Given the description of an element on the screen output the (x, y) to click on. 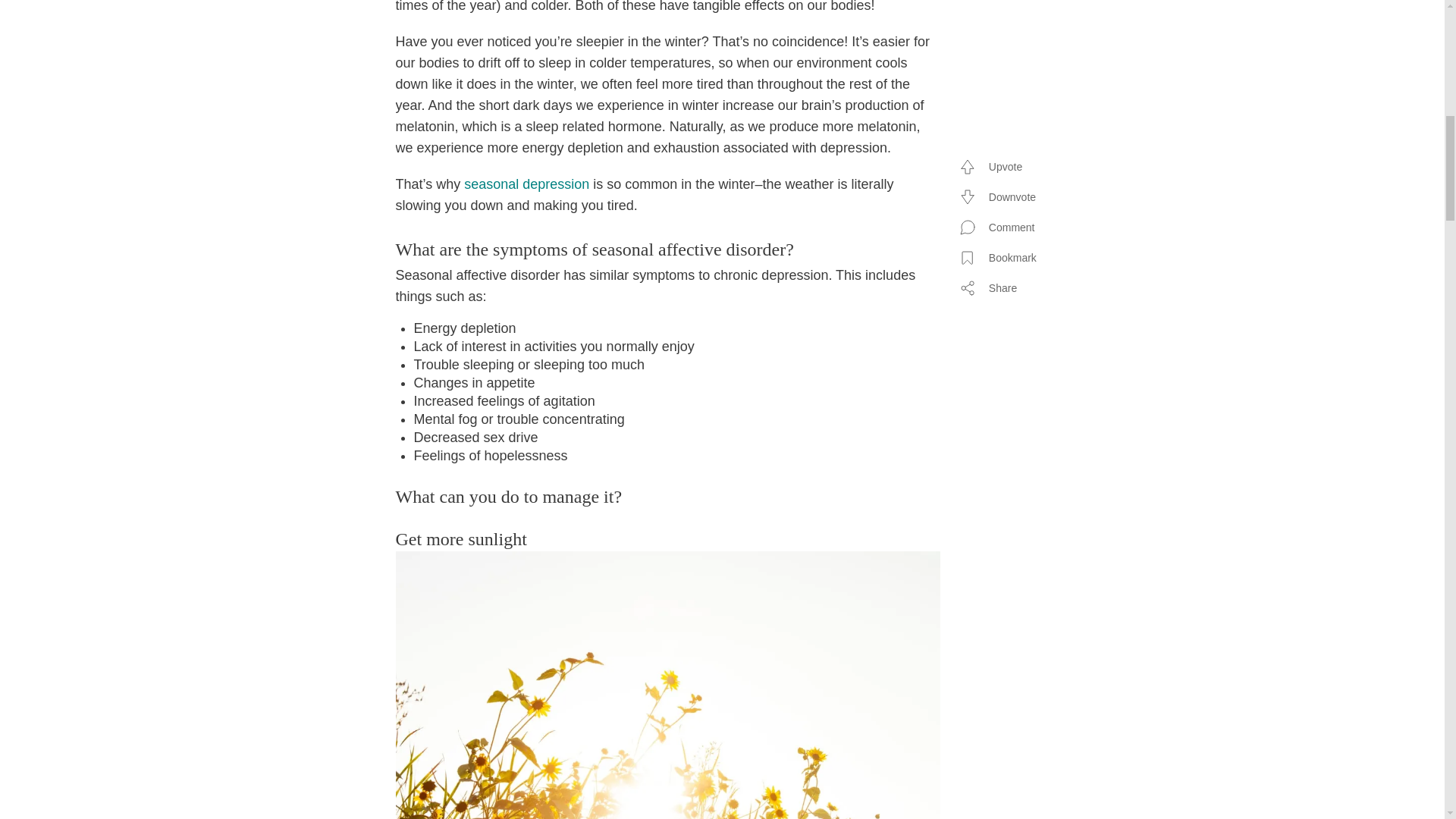
seasonal depression (526, 183)
